Given the description of an element on the screen output the (x, y) to click on. 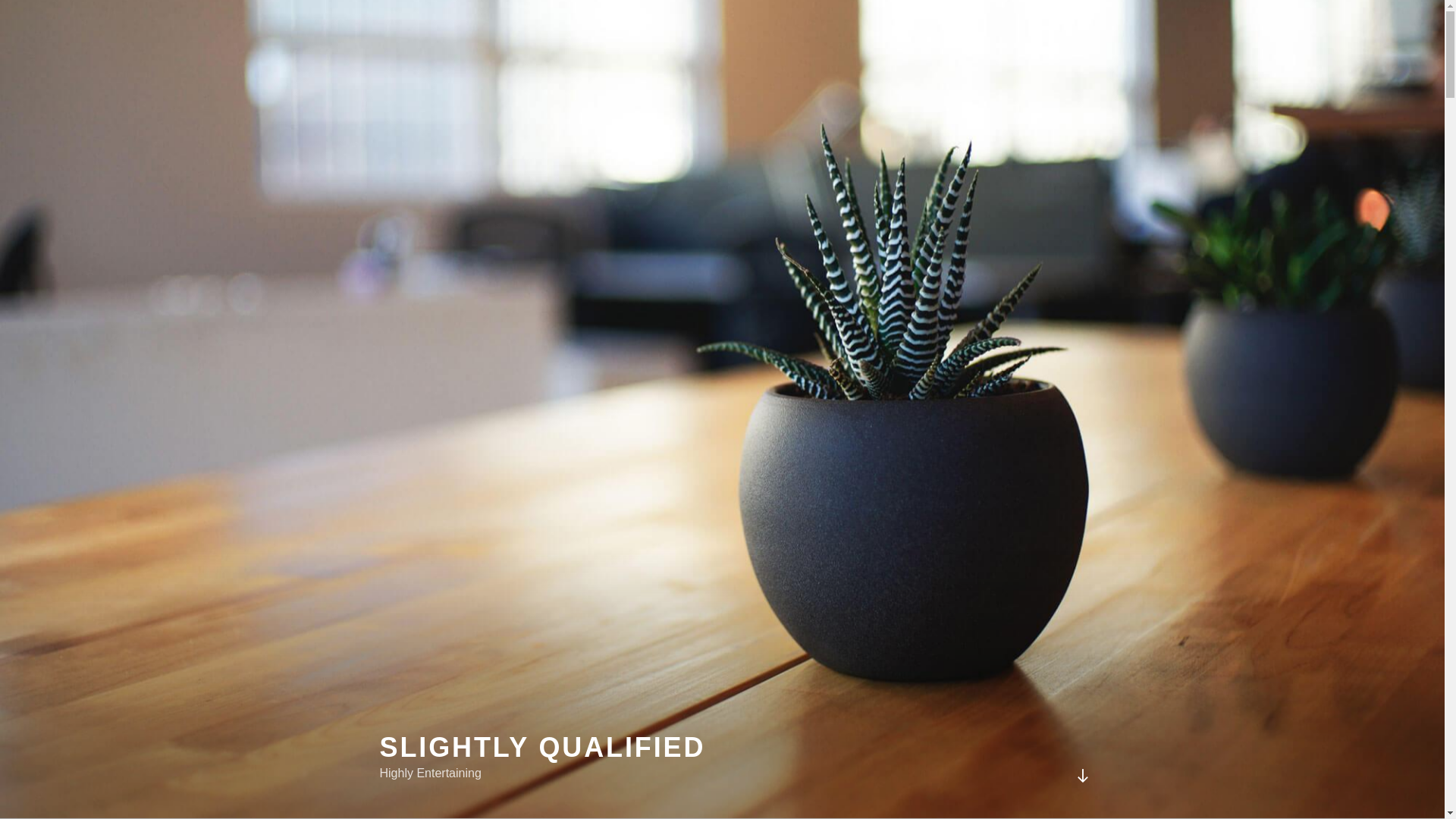
Scroll down to content (1081, 775)
SLIGHTLY QUALIFIED (541, 747)
Scroll down to content (1081, 775)
